Given the description of an element on the screen output the (x, y) to click on. 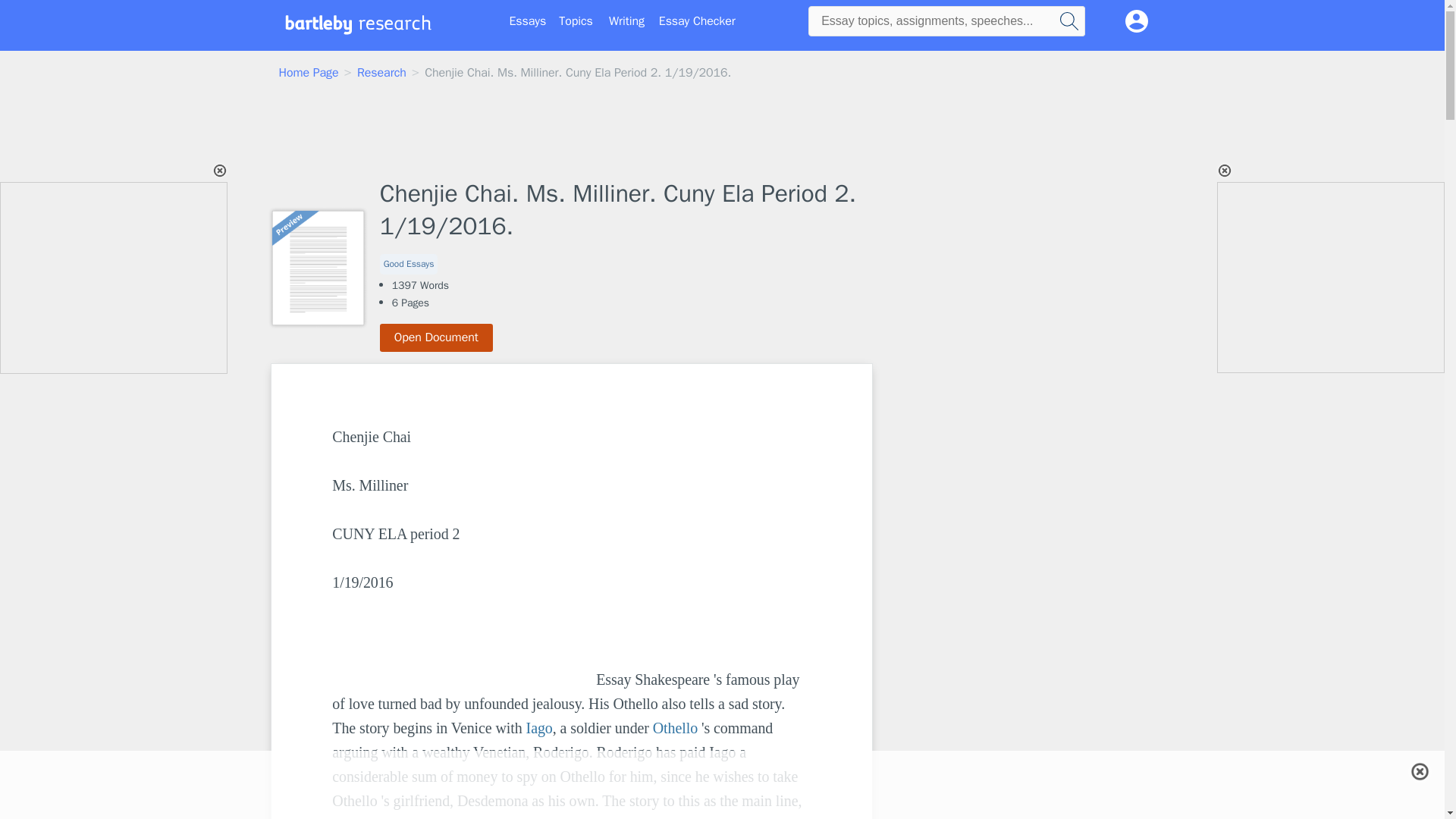
3rd party ad content (997, 698)
Essays (528, 20)
3rd party ad content (997, 457)
Research (381, 72)
Iago (539, 727)
Open Document (436, 337)
Essay Checker (697, 20)
3rd party ad content (721, 785)
3rd party ad content (114, 277)
Othello (674, 727)
Topics (575, 20)
Home Page (309, 72)
Writing (626, 20)
